Given the description of an element on the screen output the (x, y) to click on. 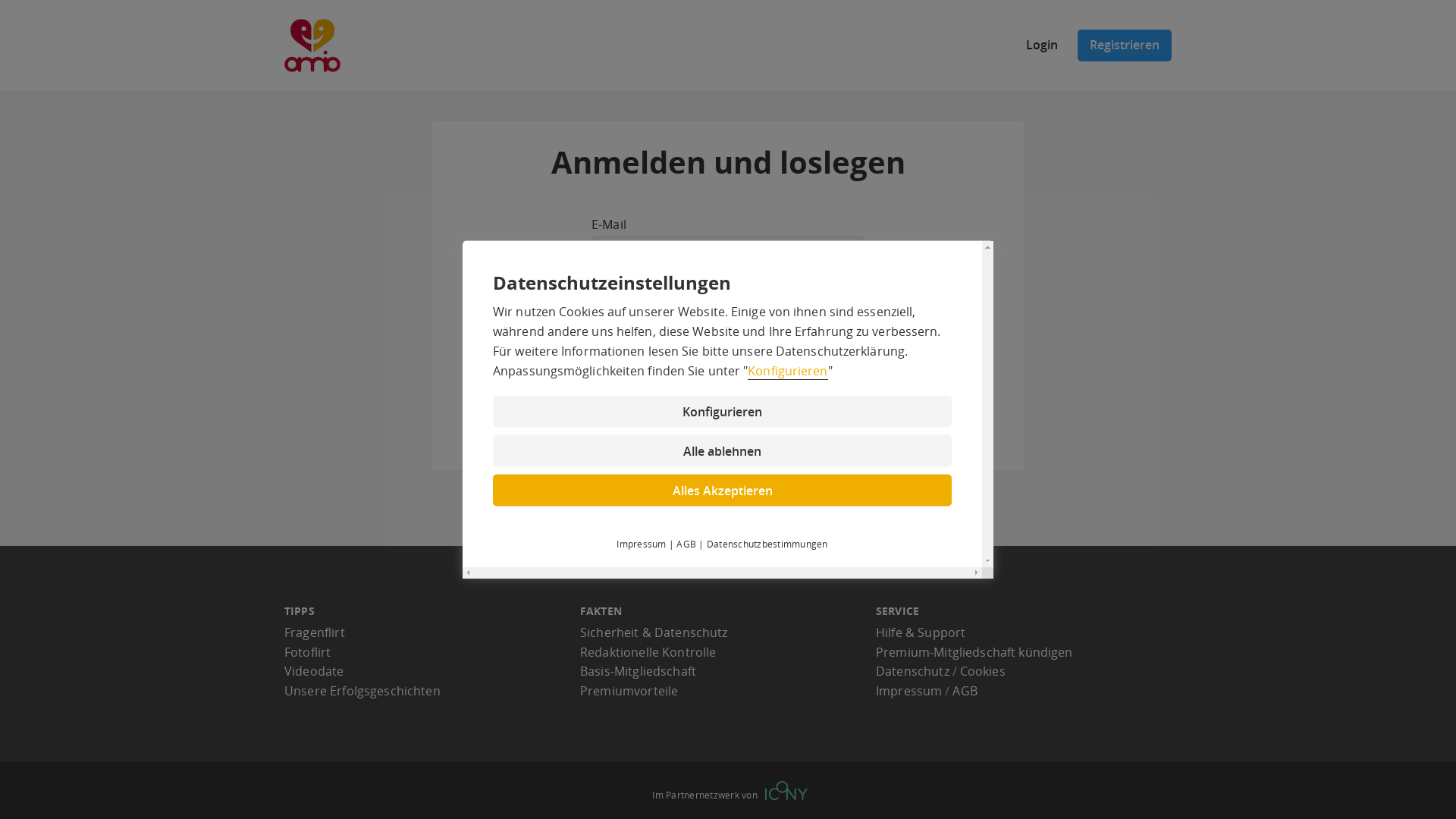
Sicherheit & Datenschutz Element type: text (654, 632)
Alles Akzeptieren Element type: text (721, 490)
Datenschutzbestimmungen Element type: text (767, 542)
Alle ablehnen Element type: text (721, 451)
Login Element type: text (727, 385)
Konfigurieren Element type: text (787, 370)
Hilfe & Support Element type: text (920, 632)
Videodate Element type: text (313, 670)
Registrieren Element type: text (1124, 45)
Impressum Element type: text (640, 542)
Datenschutz Element type: text (912, 670)
Basis-Mitgliedschaft Element type: text (638, 670)
Impressum Element type: text (908, 690)
Premiumvorteile Element type: text (628, 690)
Redaktionelle Kontrolle Element type: text (647, 651)
AGB Element type: text (964, 690)
Fragenflirt Element type: text (314, 632)
AGB Element type: text (686, 542)
Unsere Erfolgsgeschichten Element type: text (362, 690)
Login Element type: text (1041, 45)
Jetzt kostenlos Mitglied werden! Element type: text (661, 439)
Fotoflirt Element type: text (307, 651)
Passwort vergessen? Element type: text (637, 345)
Cookies Element type: text (982, 670)
Konfigurieren Element type: text (721, 411)
